Given the description of an element on the screen output the (x, y) to click on. 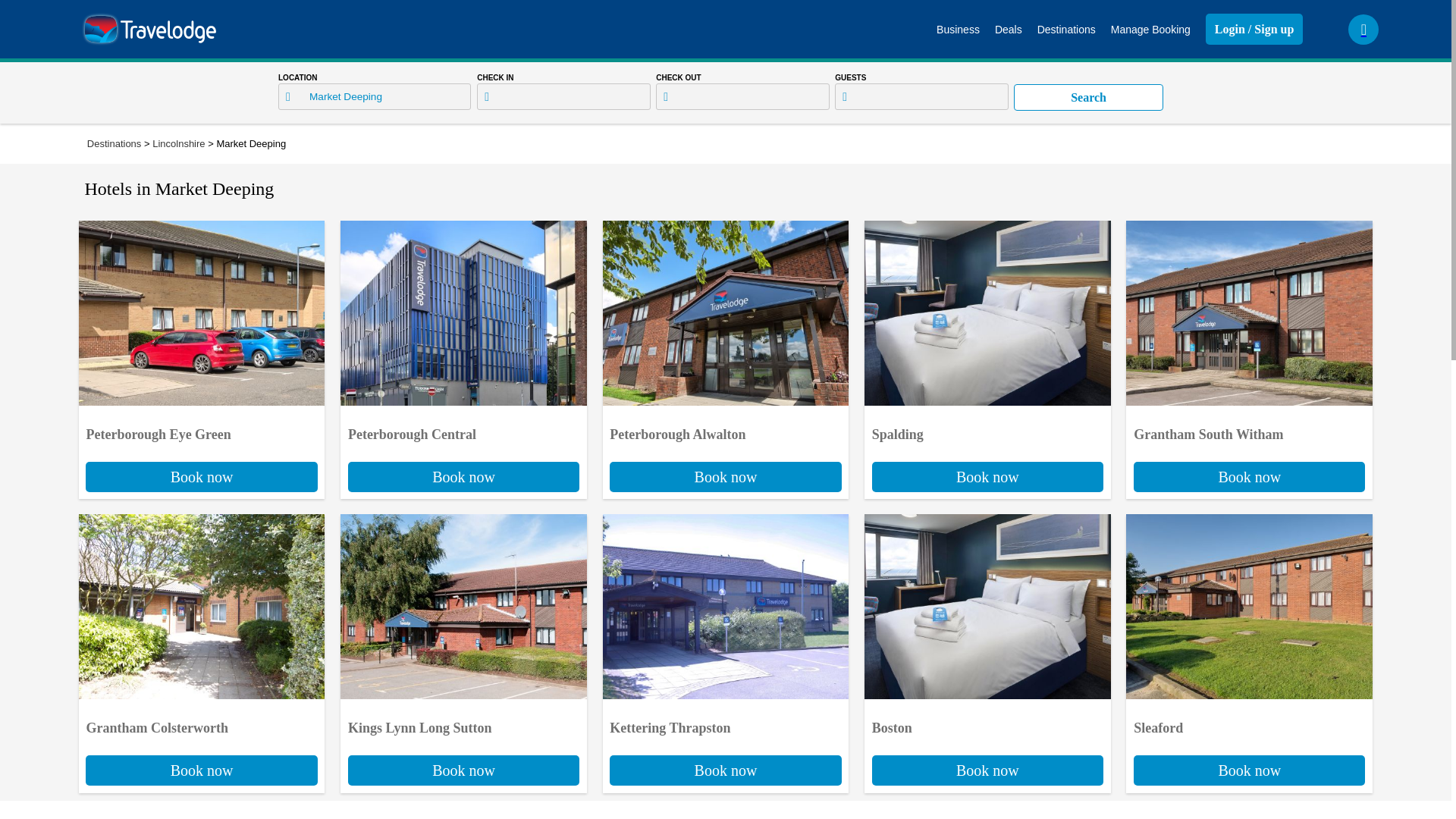
Search (1249, 446)
Destinations (1088, 97)
Lincolnshire (1066, 28)
Deals (725, 740)
